Given the description of an element on the screen output the (x, y) to click on. 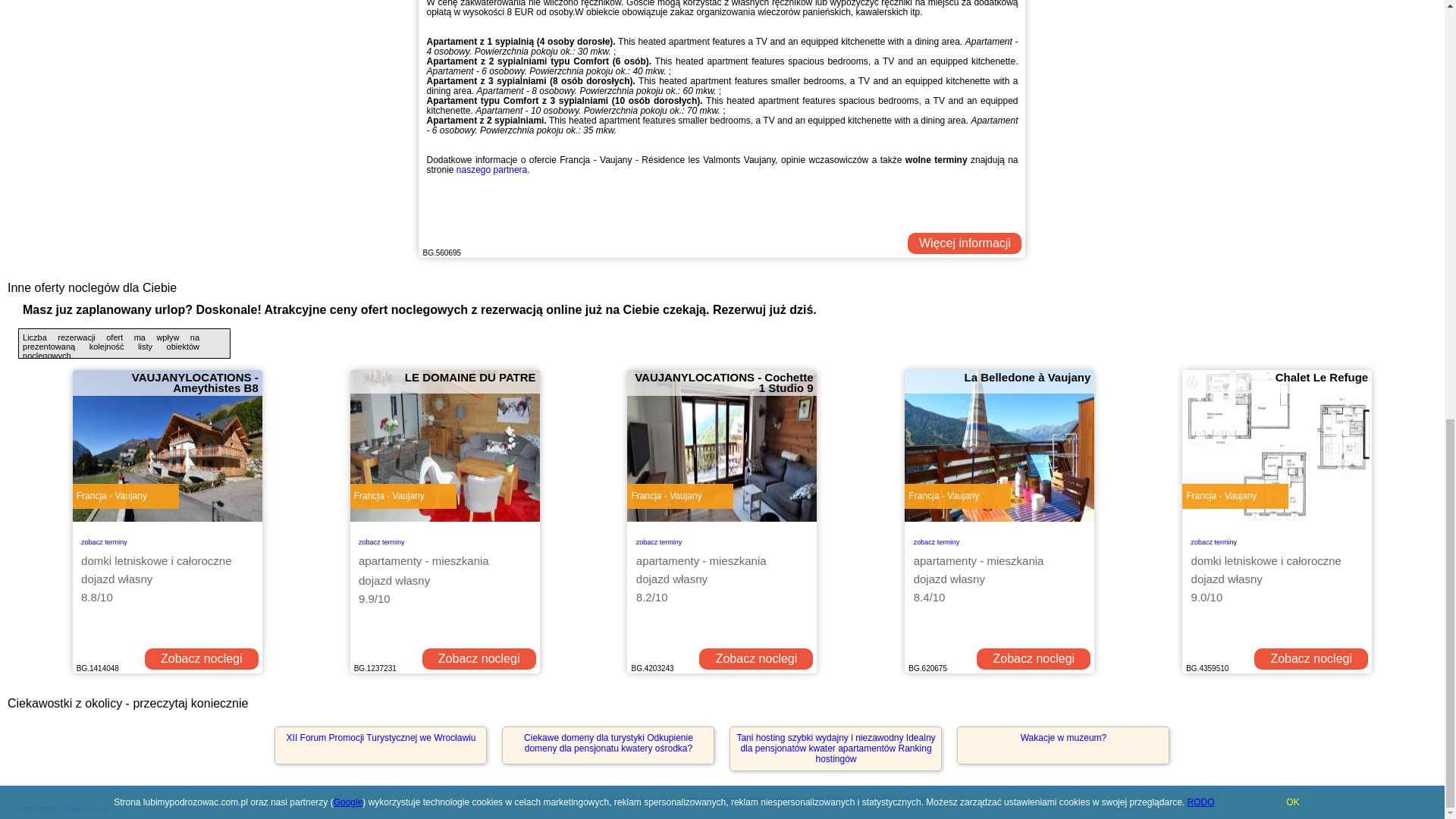
Zobacz noclegi (478, 658)
naszego partnera (492, 169)
zobacz terminy (1214, 540)
Zobacz noclegi (201, 658)
Zobacz noclegi (1310, 658)
zobacz terminy (381, 540)
zobacz terminy (659, 540)
Zobacz noclegi (755, 658)
zobacz terminy (104, 540)
zobacz terminy (936, 540)
